Given the description of an element on the screen output the (x, y) to click on. 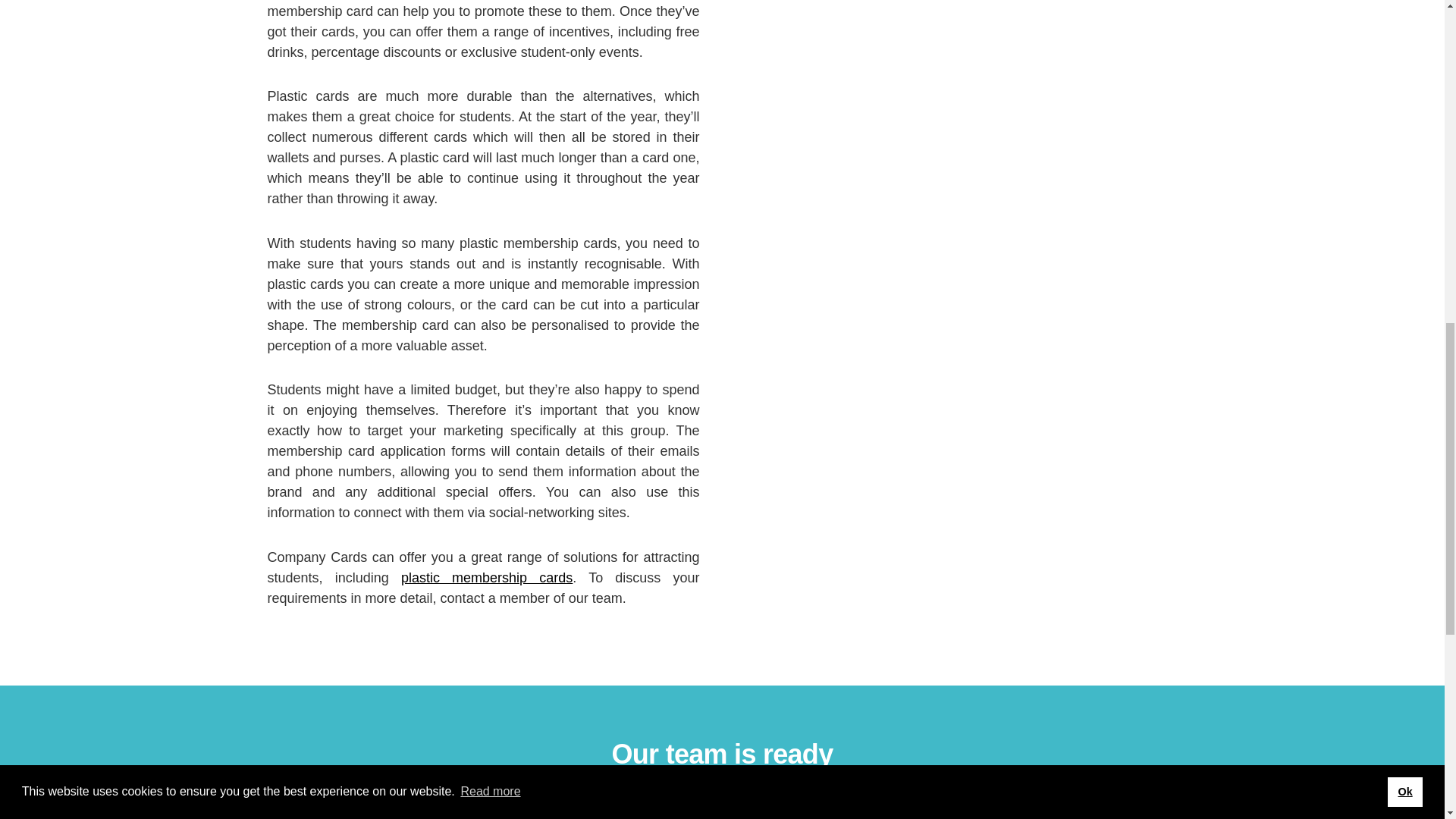
plastic membership cards (486, 577)
